Given the description of an element on the screen output the (x, y) to click on. 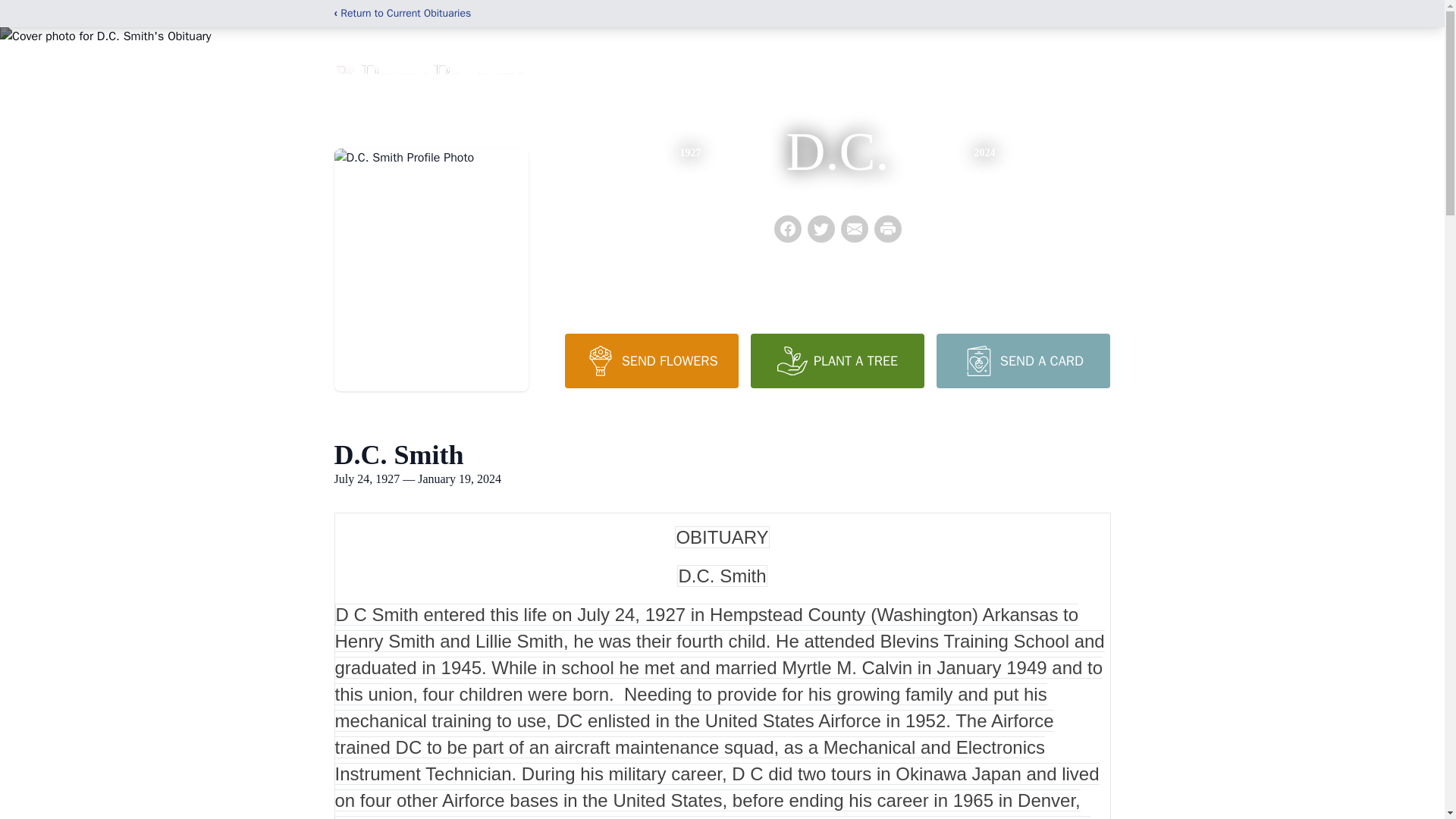
SEND A CARD (1022, 360)
PLANT A TREE (837, 360)
SEND FLOWERS (651, 360)
